Given the description of an element on the screen output the (x, y) to click on. 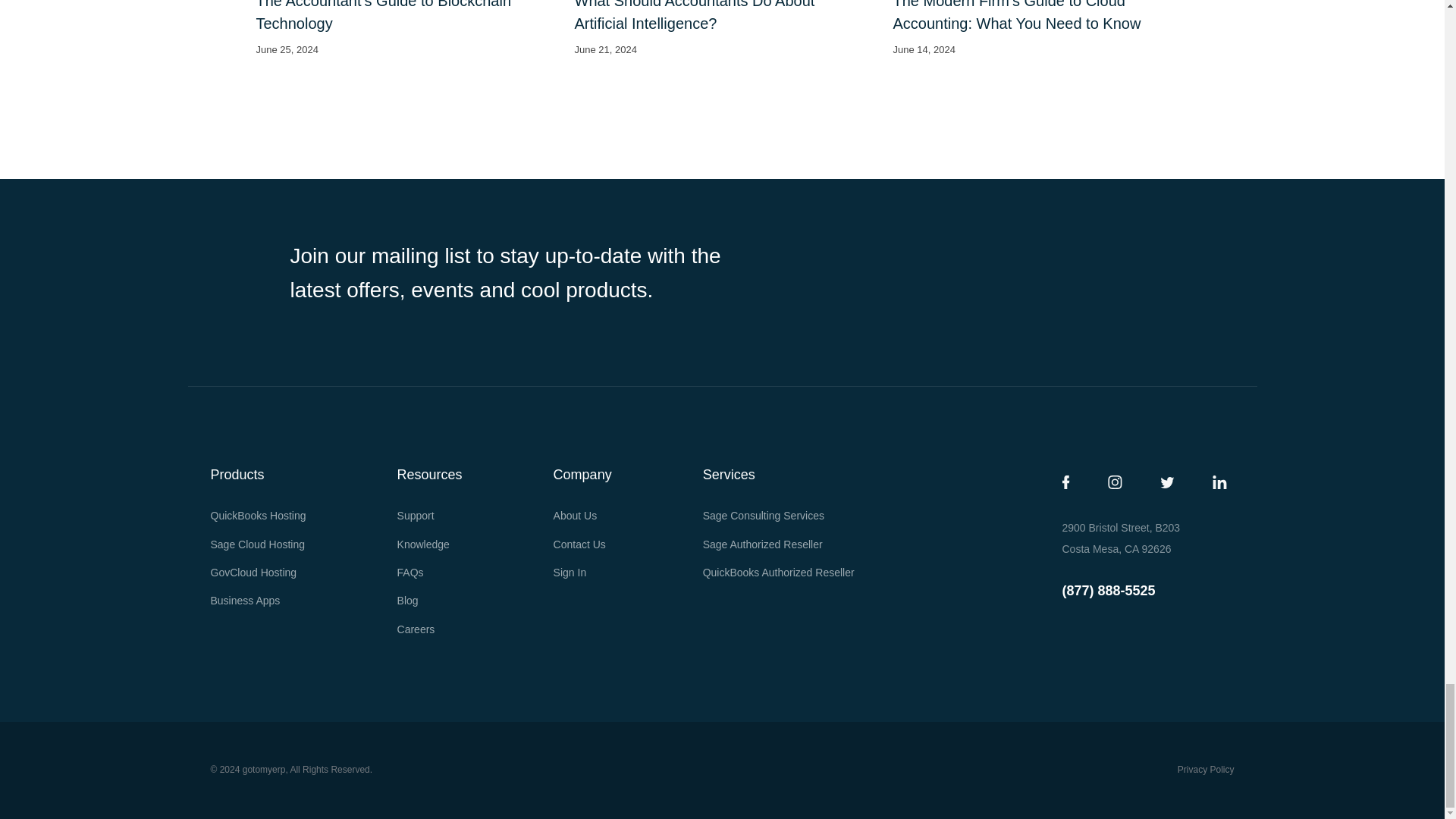
Follow gotomyerp on instagram (1113, 481)
Follow gotomyerp on linkedin (1218, 481)
Follow gotomyerp on twitter (1167, 482)
